Given the description of an element on the screen output the (x, y) to click on. 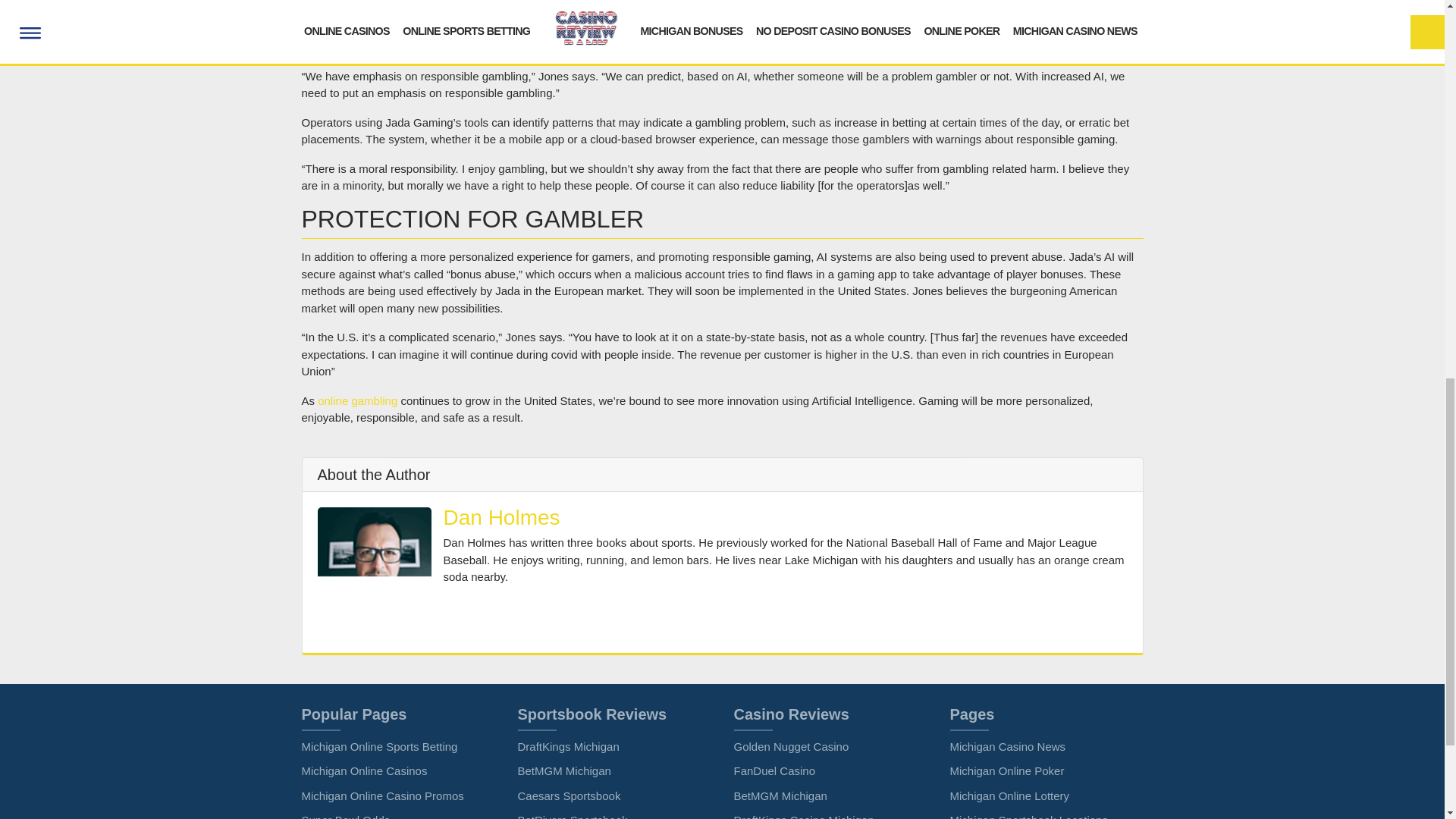
Dan Holmes (500, 517)
Michigan Online Casino Promos (382, 795)
Michigan Online Casinos (364, 770)
Michigan Online Sports Betting (379, 746)
DraftKings Michigan (567, 746)
Super Bowl Odds (345, 816)
online gambling (357, 400)
